Given the description of an element on the screen output the (x, y) to click on. 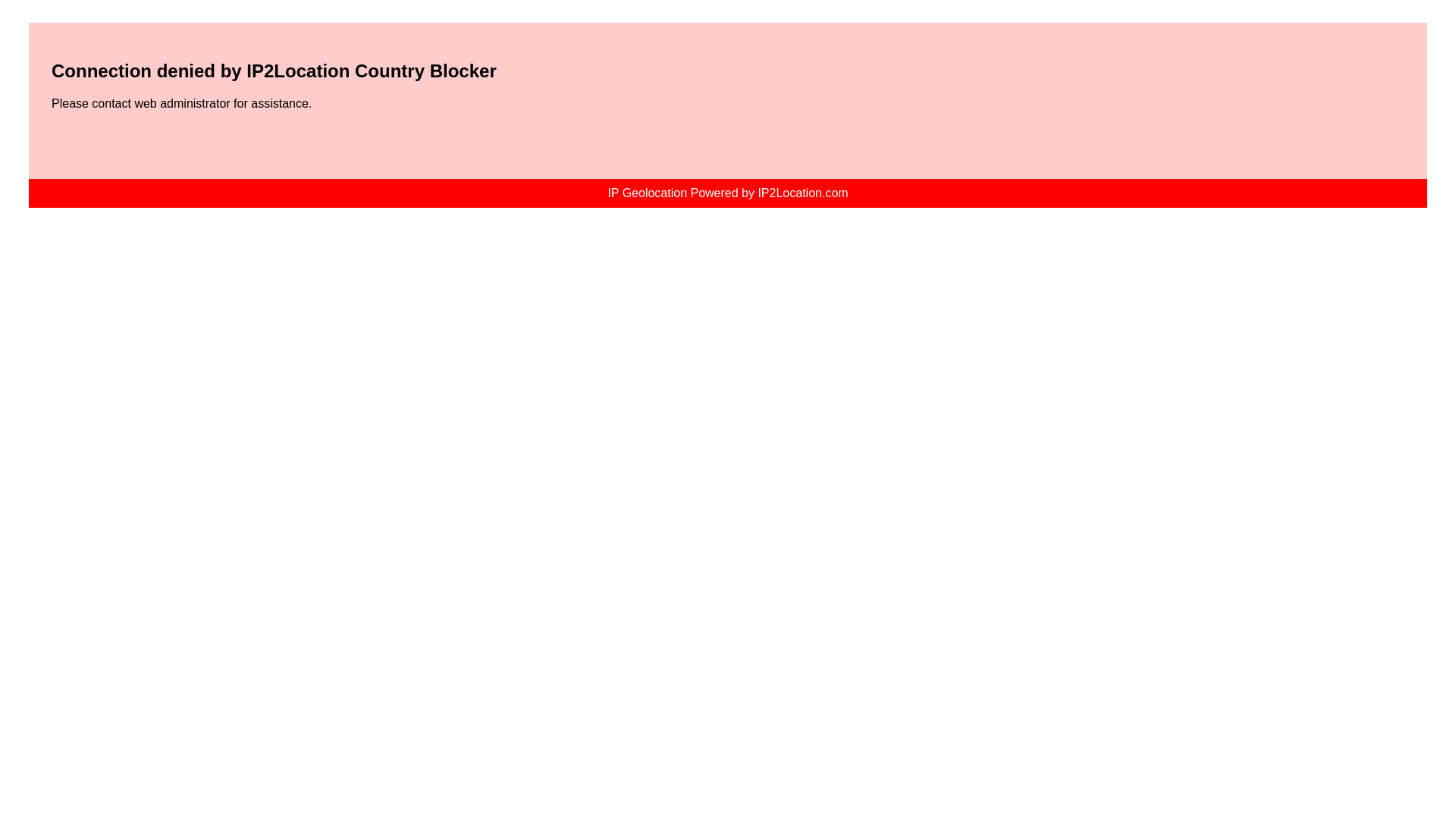
IP Geolocation Powered by IP2Location.com (727, 192)
